Given the description of an element on the screen output the (x, y) to click on. 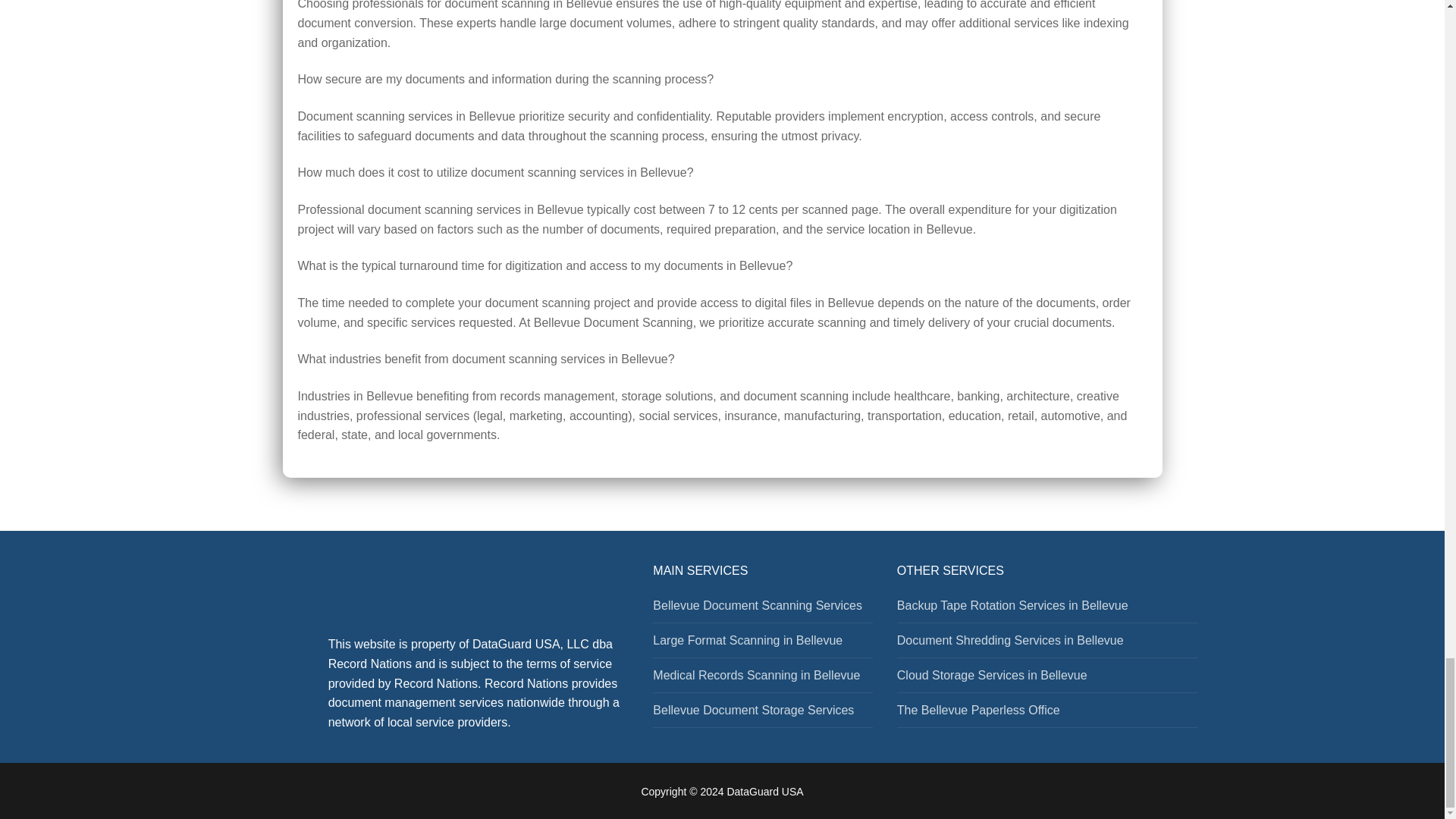
Large Format Scanning in Bellevue (762, 644)
The Bellevue Paperless Office (1047, 714)
Bellevue Document Scanning Services (762, 609)
Medical Records Scanning in Bellevue (762, 678)
Cloud Storage Services in Bellevue (1047, 678)
Document Shredding Services in Bellevue (1047, 644)
Bellevue Document Storage Services (762, 714)
Backup Tape Rotation Services in Bellevue (1047, 609)
